Given the description of an element on the screen output the (x, y) to click on. 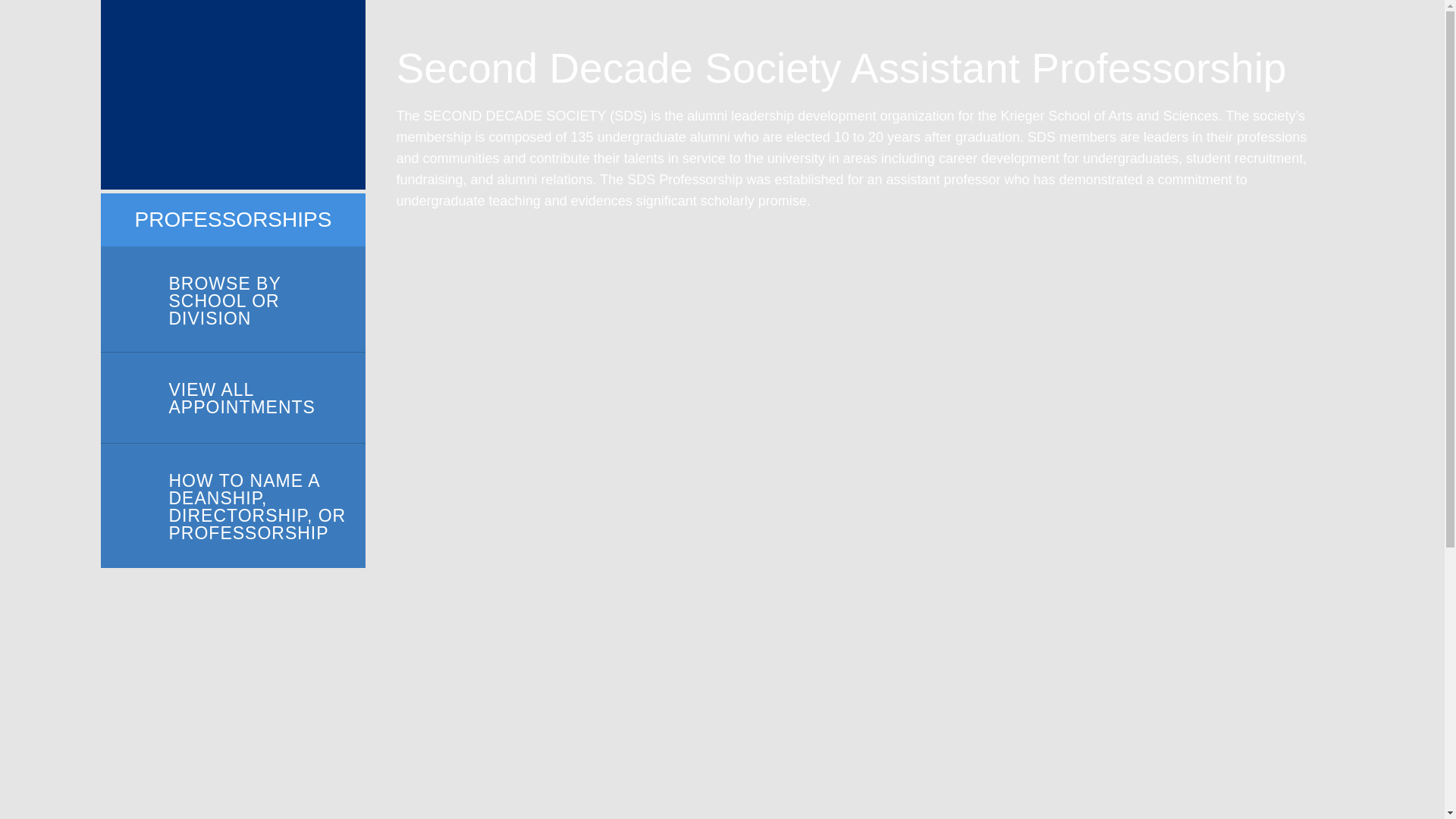
JHU Professorships (232, 94)
VIEW ALL APPOINTMENTS (232, 397)
PROFESSORSHIPS (233, 219)
BROWSE BY SCHOOL OR DIVISION (232, 299)
HOW TO NAME A DEANSHIP, DIRECTORSHIP, OR PROFESSORSHIP (232, 505)
